Given the description of an element on the screen output the (x, y) to click on. 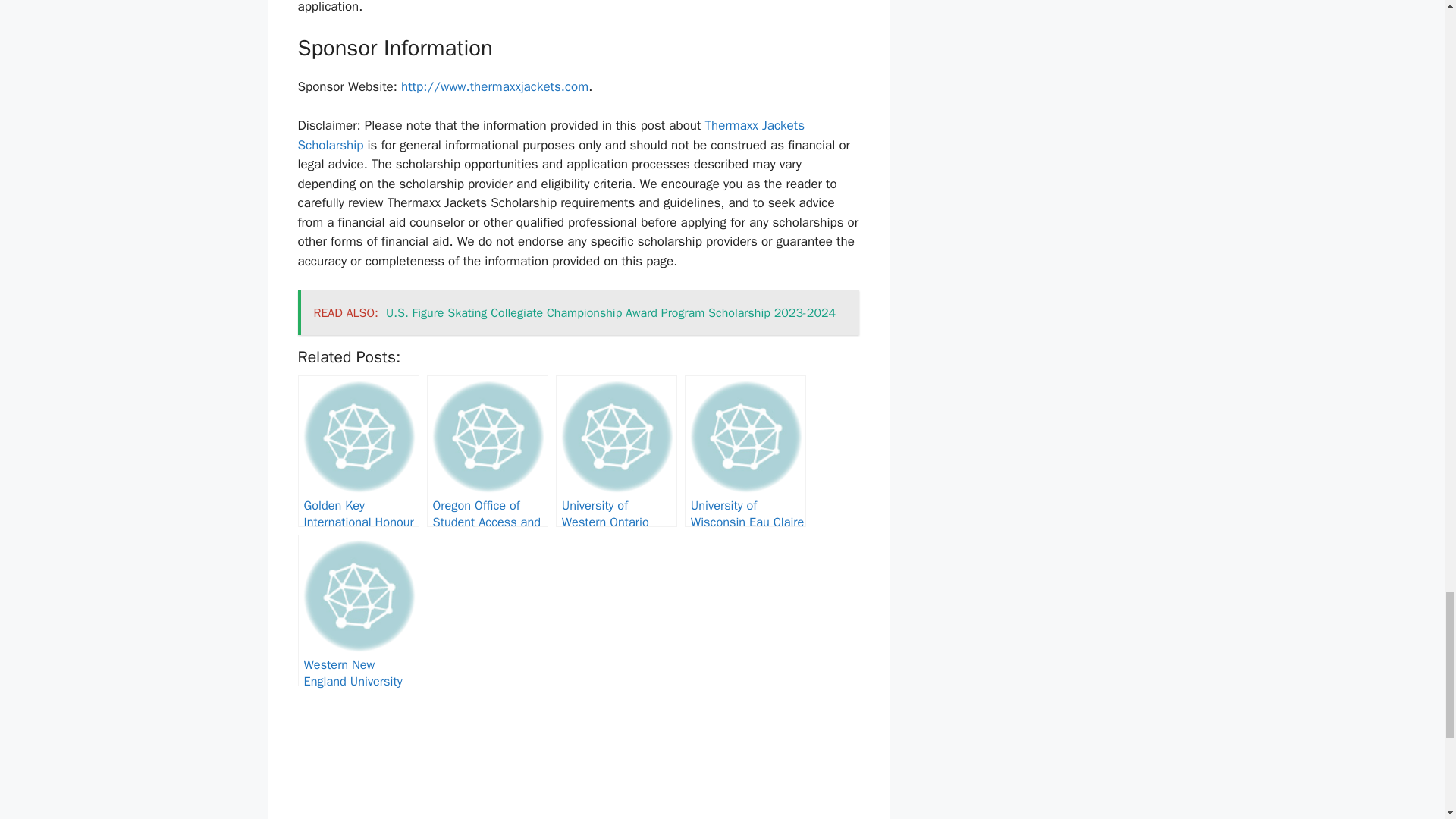
Thermaxx Jackets Scholarship (550, 135)
